Given the description of an element on the screen output the (x, y) to click on. 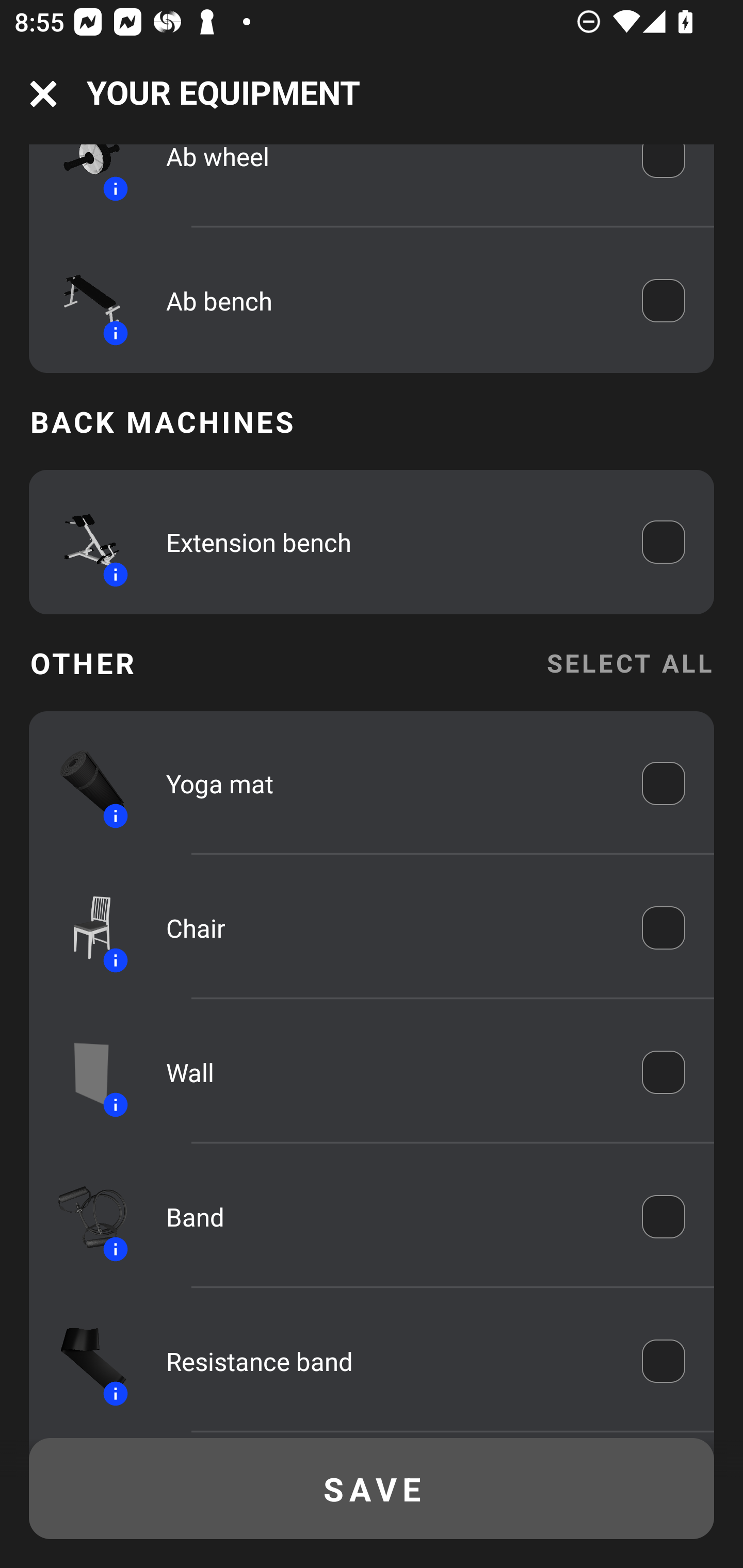
Navigation icon (43, 93)
Equipment icon Information icon (82, 177)
Ab wheel (389, 171)
Equipment icon Information icon (82, 300)
Ab bench (389, 300)
Equipment icon Information icon (82, 541)
Extension bench (389, 541)
SELECT ALL (629, 662)
Equipment icon Information icon (82, 783)
Yoga mat (389, 783)
Equipment icon Information icon (82, 927)
Chair (389, 927)
Equipment icon Information icon (82, 1071)
Wall (389, 1072)
Equipment icon Information icon (82, 1216)
Band (389, 1216)
Equipment icon Information icon (82, 1361)
Resistance band (389, 1360)
SAVE (371, 1488)
